Given the description of an element on the screen output the (x, y) to click on. 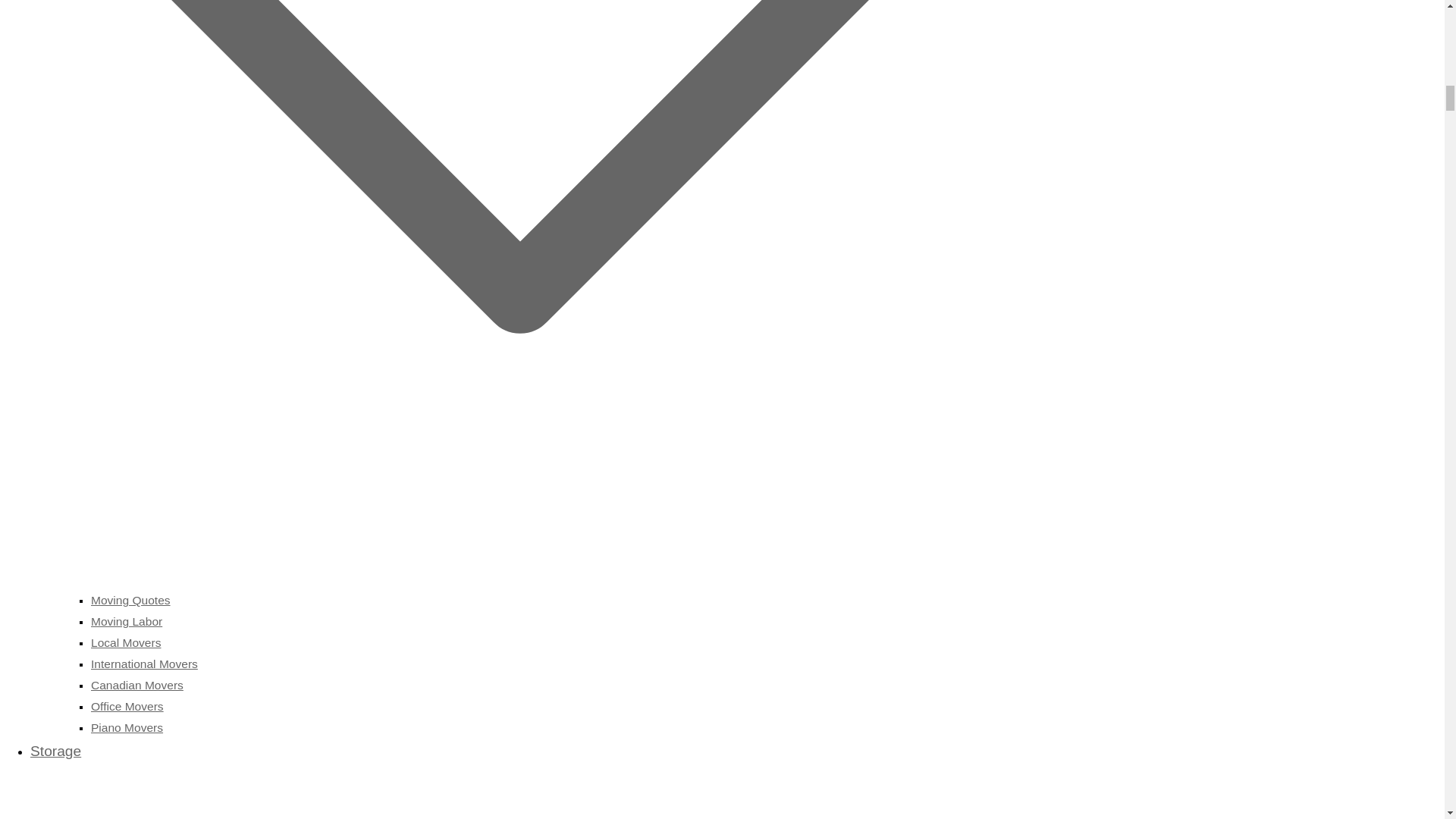
Office Movers (126, 706)
Canadian Movers (136, 684)
Moving Labor (125, 621)
Local Movers (125, 642)
International Movers (144, 663)
Moving Quotes (130, 599)
Storage (504, 780)
Piano Movers (126, 727)
